Given the description of an element on the screen output the (x, y) to click on. 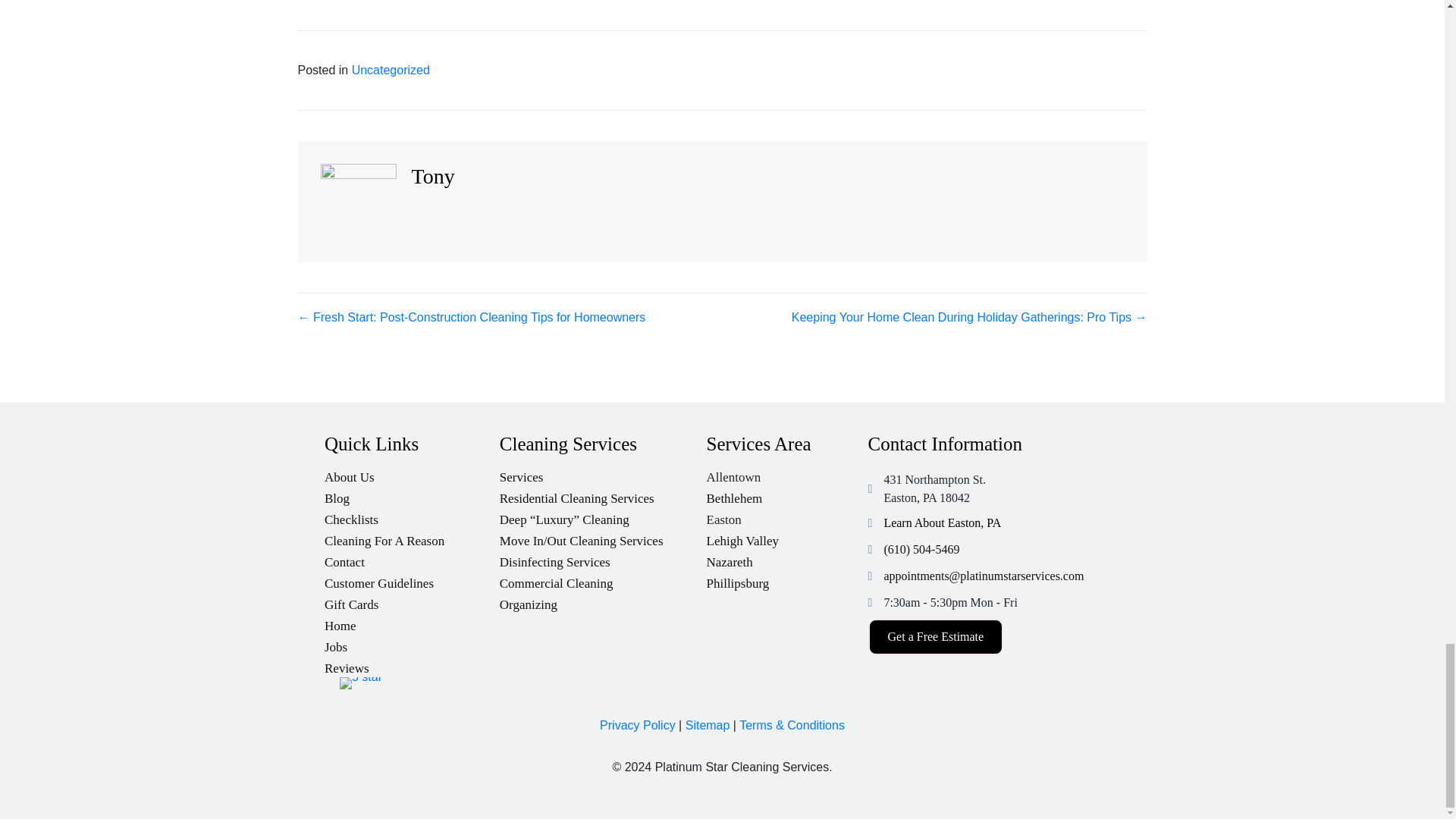
Customer Guidelines (411, 579)
Checklists (411, 516)
Checklists (411, 516)
Blog (411, 494)
Contact Platinum Star Services (411, 557)
Uncategorized (390, 69)
Cleaning For A Reason (411, 537)
Jobs (411, 643)
About Us (411, 473)
Home (411, 621)
Gift Cards (411, 600)
Contact (411, 557)
